Given the description of an element on the screen output the (x, y) to click on. 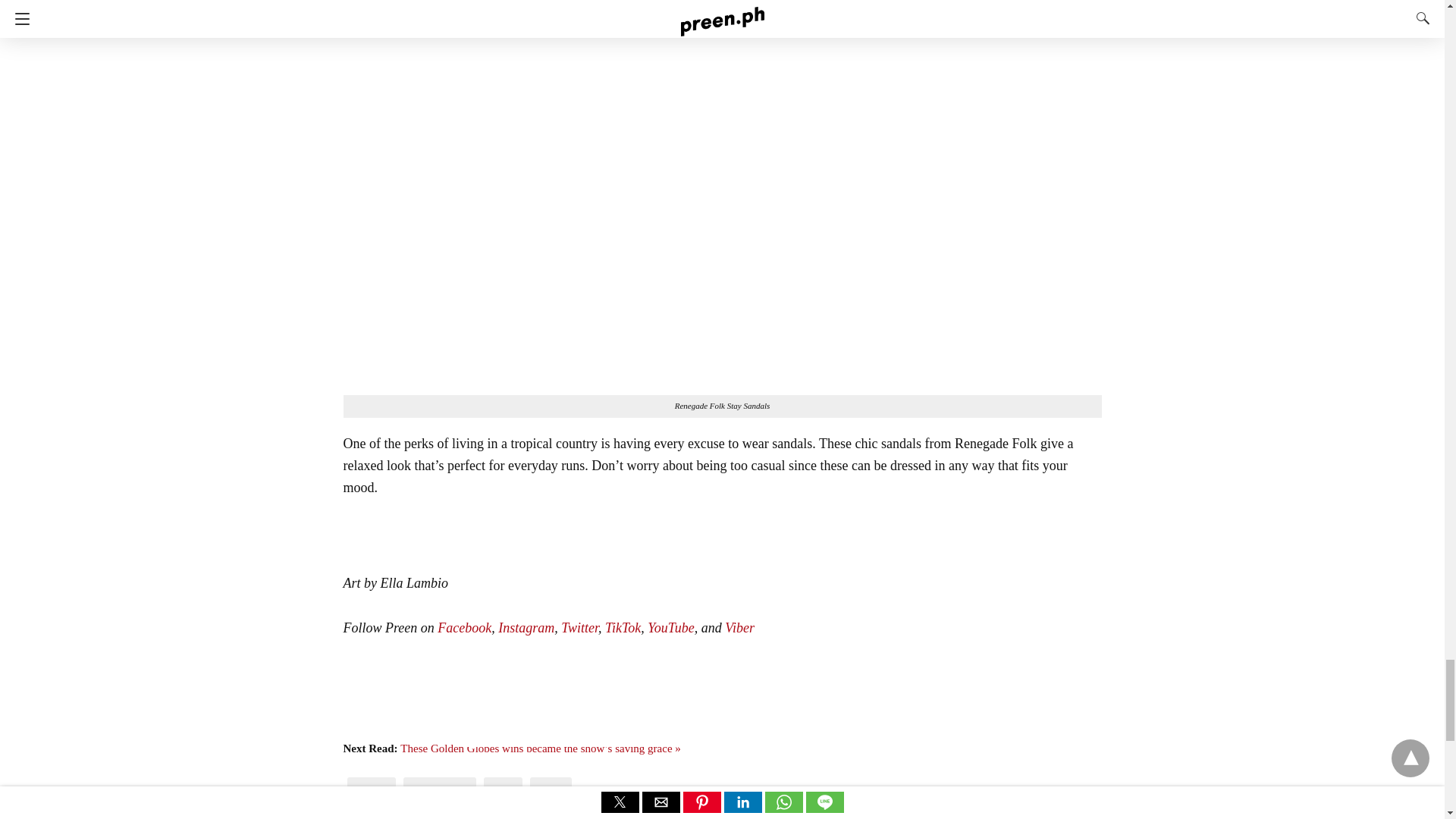
YouTube (670, 627)
SoFab (550, 791)
Facebook (465, 627)
Viber (739, 627)
Instagram (525, 627)
Renegade Folk (439, 791)
shoes (503, 791)
Twitter (579, 627)
TikTok (622, 627)
